Given the description of an element on the screen output the (x, y) to click on. 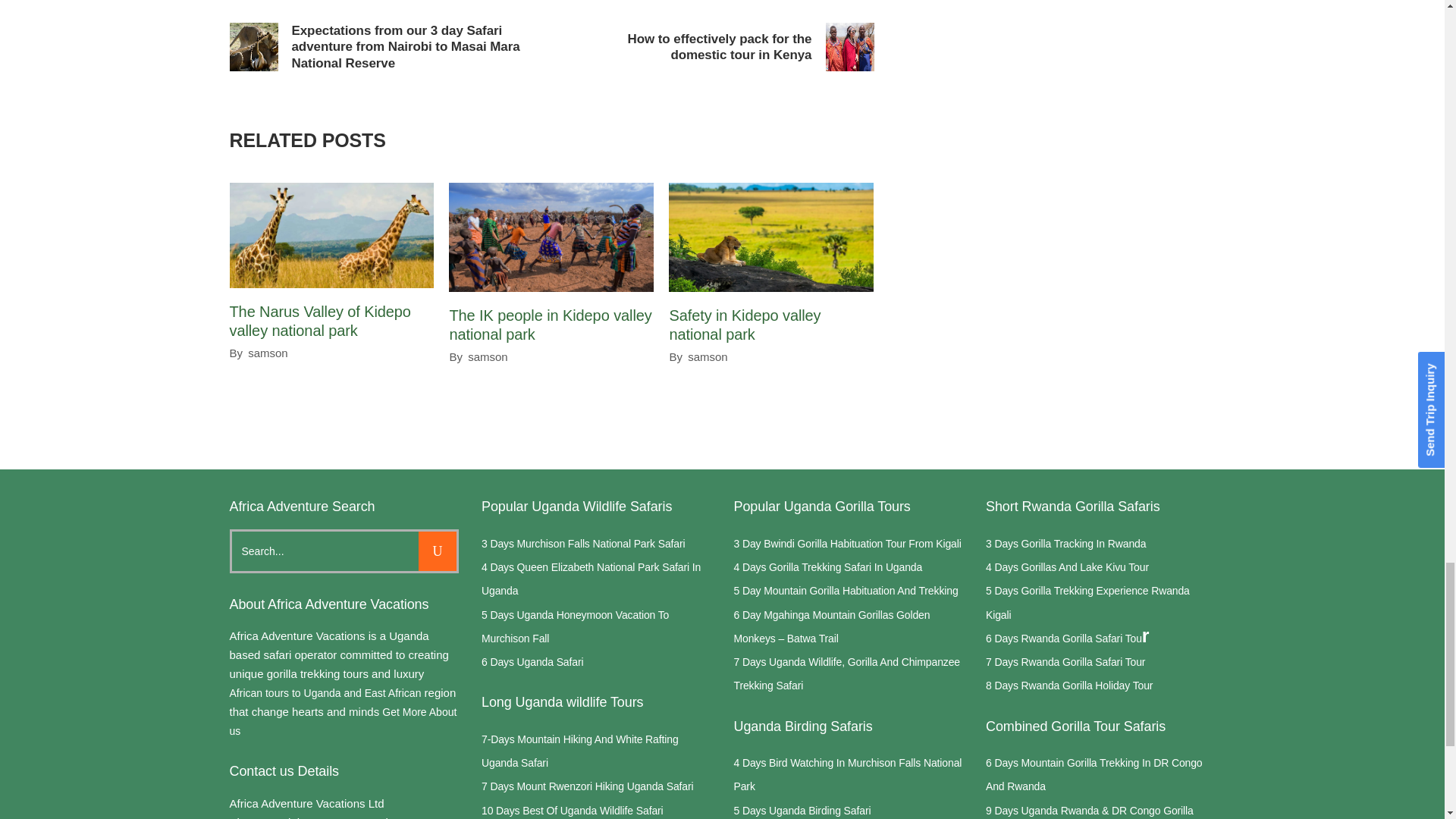
Safety in Kidepo valley national park (744, 325)
Search for: (325, 550)
The Narus Valley of Kidepo valley national park (319, 321)
The Narus Valley of Kidepo valley national park (330, 234)
The IK people in Kidepo valley national park (549, 325)
Safety in Kidepo valley national park (770, 236)
The IK people in Kidepo valley national park (550, 236)
